Given the description of an element on the screen output the (x, y) to click on. 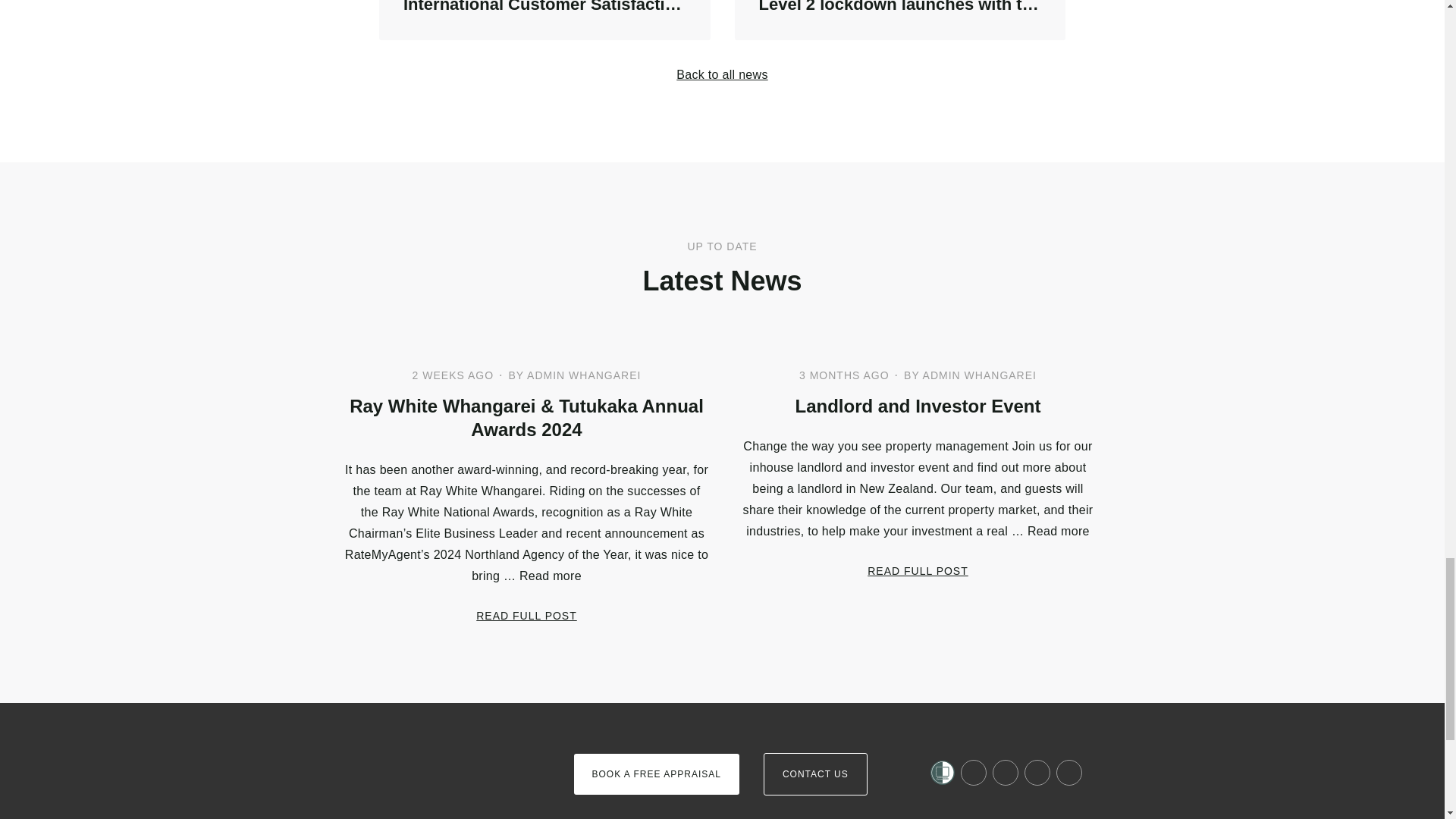
Landlord and Investor Event (916, 405)
Facebook (544, 20)
CONTACT US (973, 772)
BOOK A FREE APPRAISAL (814, 773)
Instagram (655, 773)
Ray White (1004, 772)
READ FULL POST (376, 747)
Back to all news (526, 615)
LinkedIn (722, 74)
READ FULL POST (1037, 772)
Youtube (917, 570)
